Given the description of an element on the screen output the (x, y) to click on. 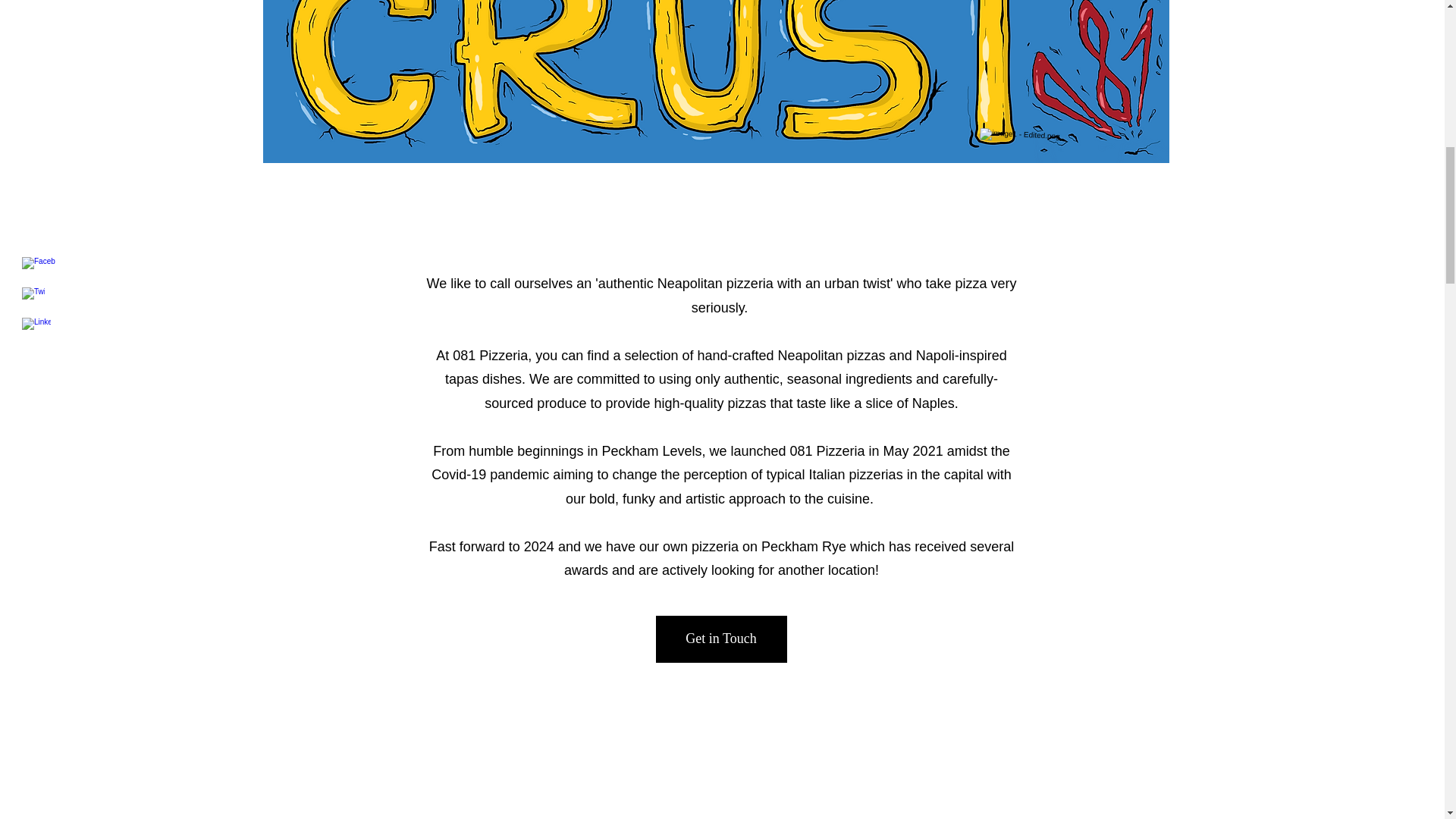
Get in Touch (720, 638)
